Given the description of an element on the screen output the (x, y) to click on. 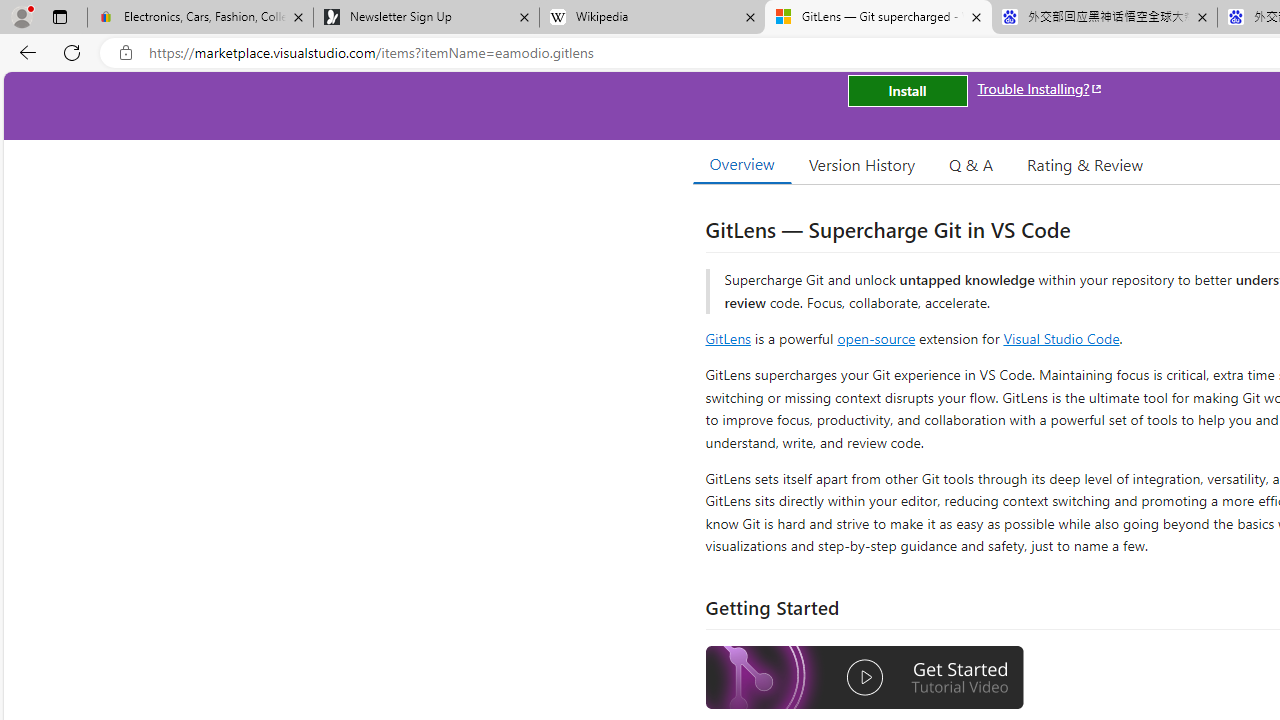
Overview (742, 164)
open-source (876, 337)
Rating & Review (1084, 164)
Watch the GitLens Getting Started video (865, 678)
Watch the GitLens Getting Started video (865, 679)
Visual Studio Code (1061, 337)
GitLens (728, 337)
Install (907, 90)
